Given the description of an element on the screen output the (x, y) to click on. 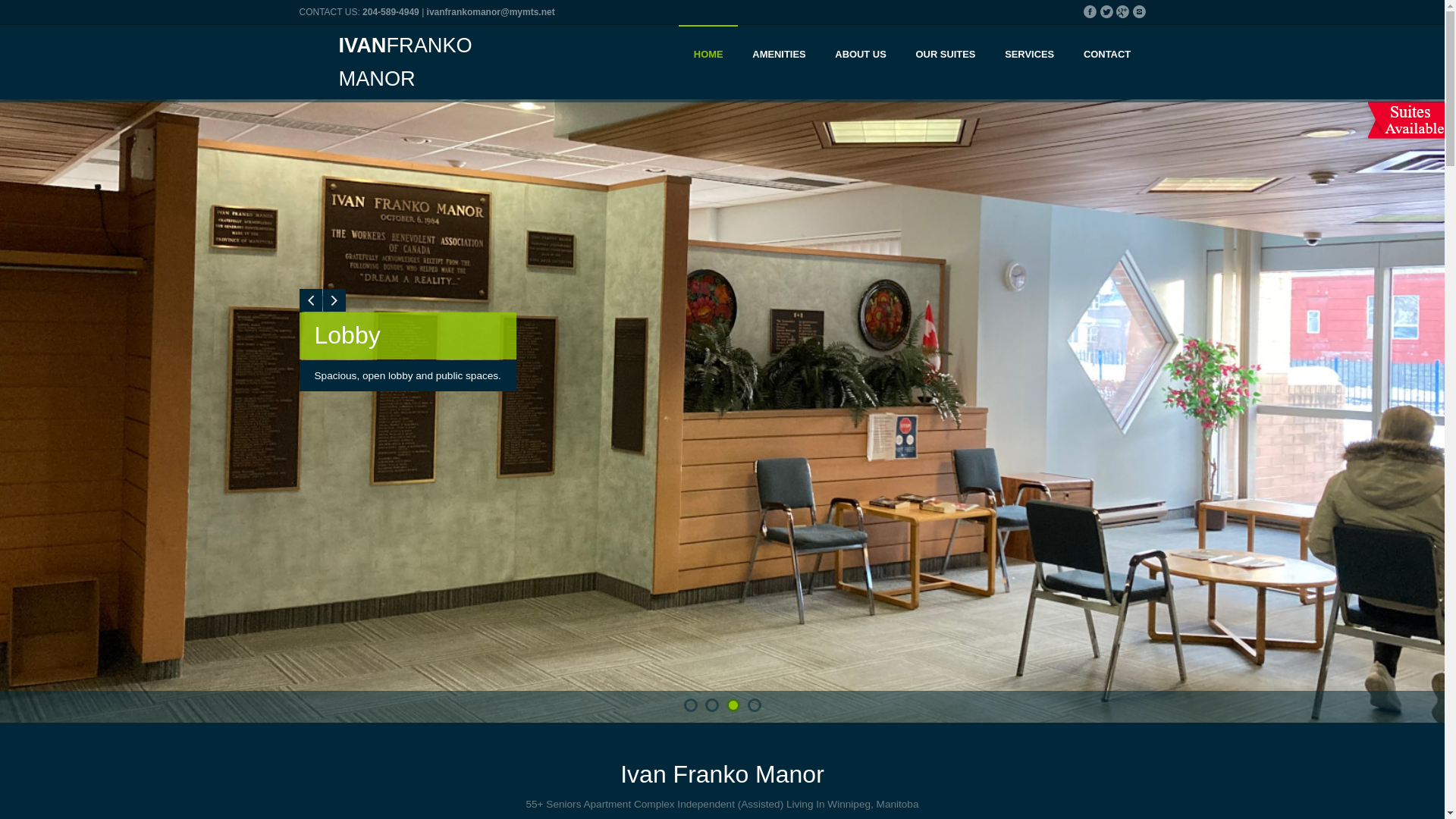
OUR SUITES Element type: text (945, 56)
SERVICES Element type: text (1029, 56)
HOME Element type: text (707, 56)
CONTACT Element type: text (1107, 56)
ABOUT US Element type: text (860, 56)
AMENITIES Element type: text (778, 56)
